Given the description of an element on the screen output the (x, y) to click on. 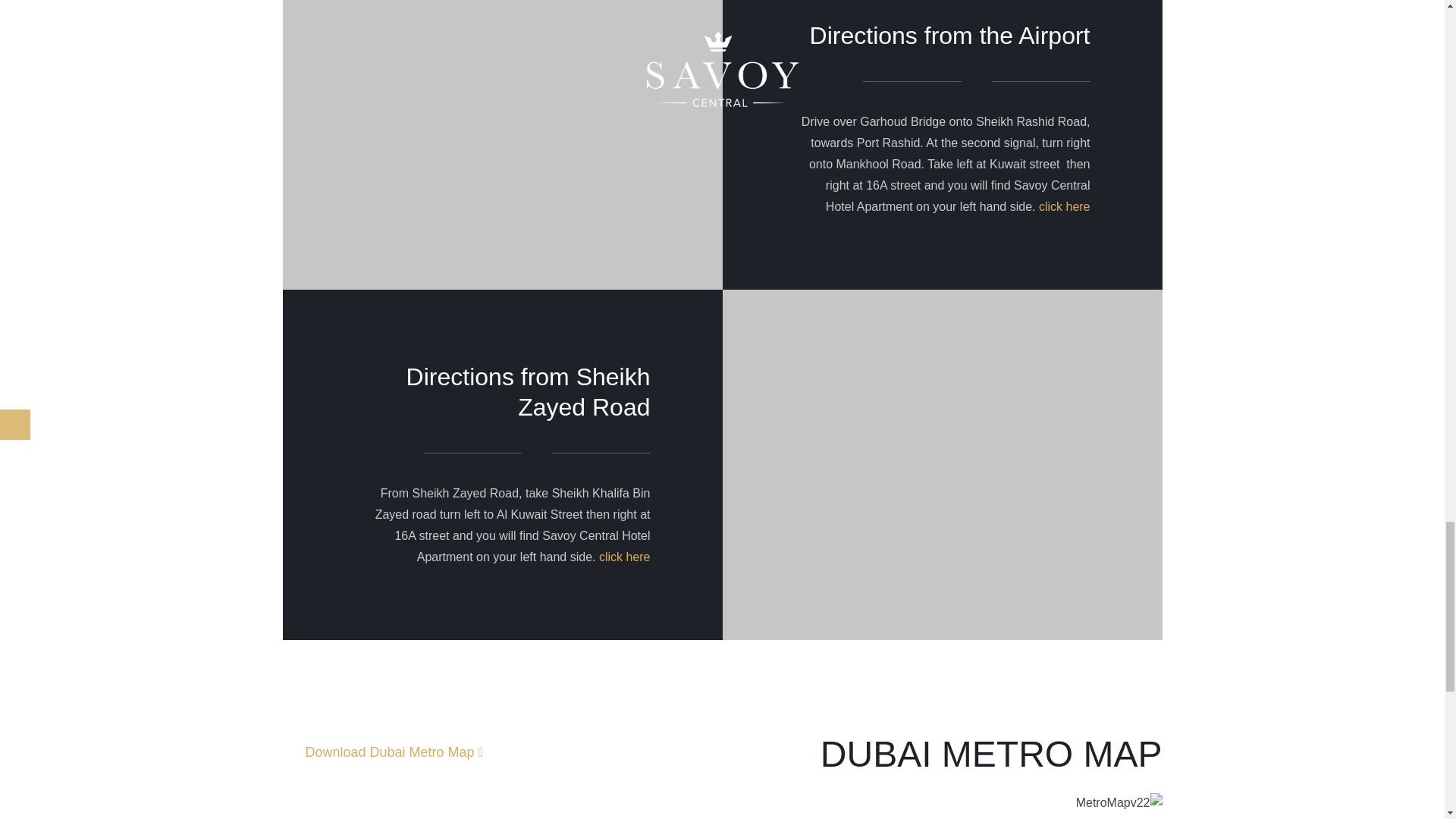
Download Dubai Metro Map (393, 754)
click here (624, 556)
click here (1064, 205)
click here (1064, 205)
click here (624, 556)
